Given the description of an element on the screen output the (x, y) to click on. 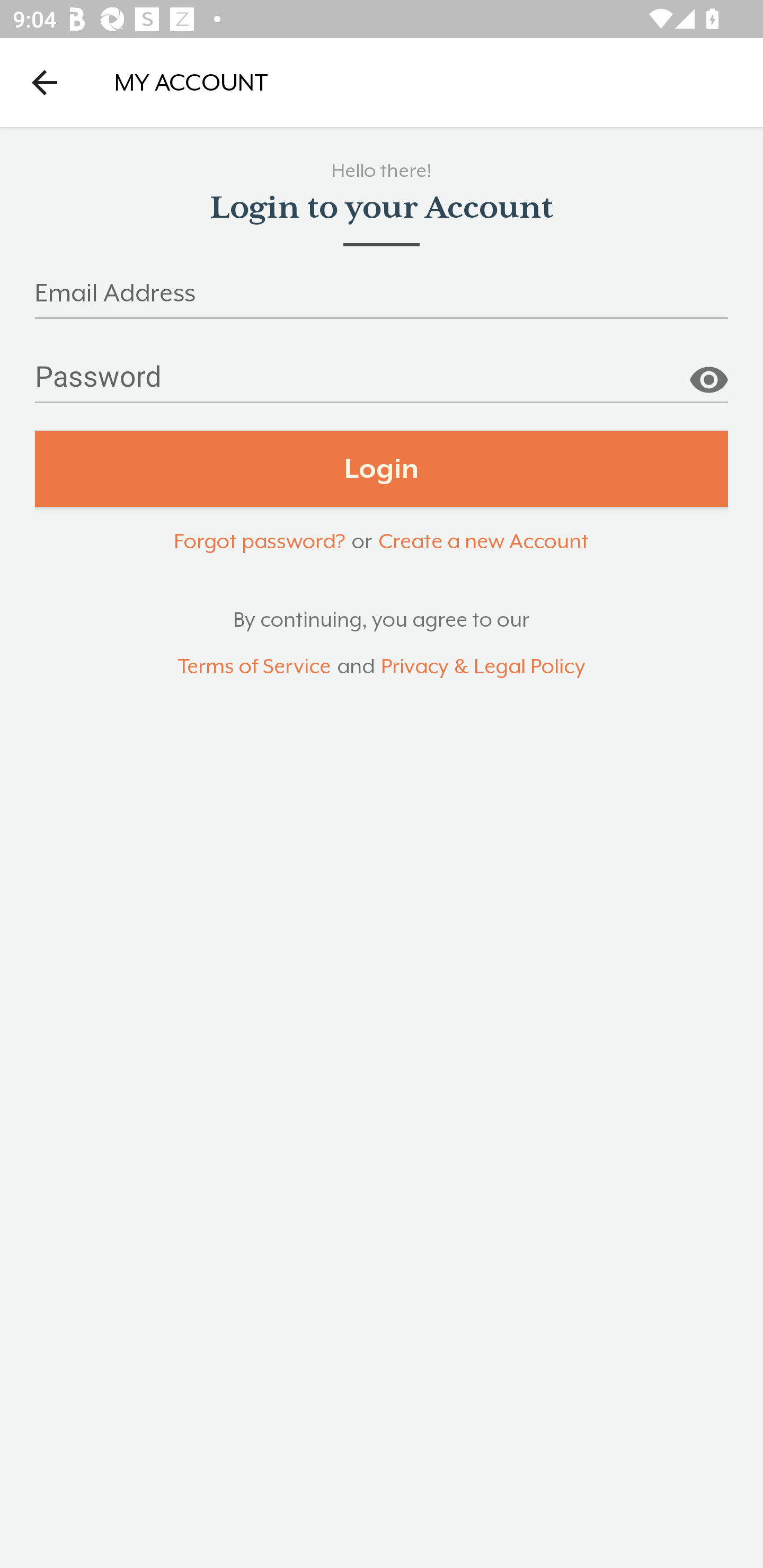
Navigate up (44, 82)
Email Address (381, 299)
 (708, 372)
Password (381, 383)
Login (381, 468)
Forgot password? (259, 540)
Create a new Account (483, 540)
Terms of Service (253, 666)
Privacy & Legal Policy (483, 666)
